Given the description of an element on the screen output the (x, y) to click on. 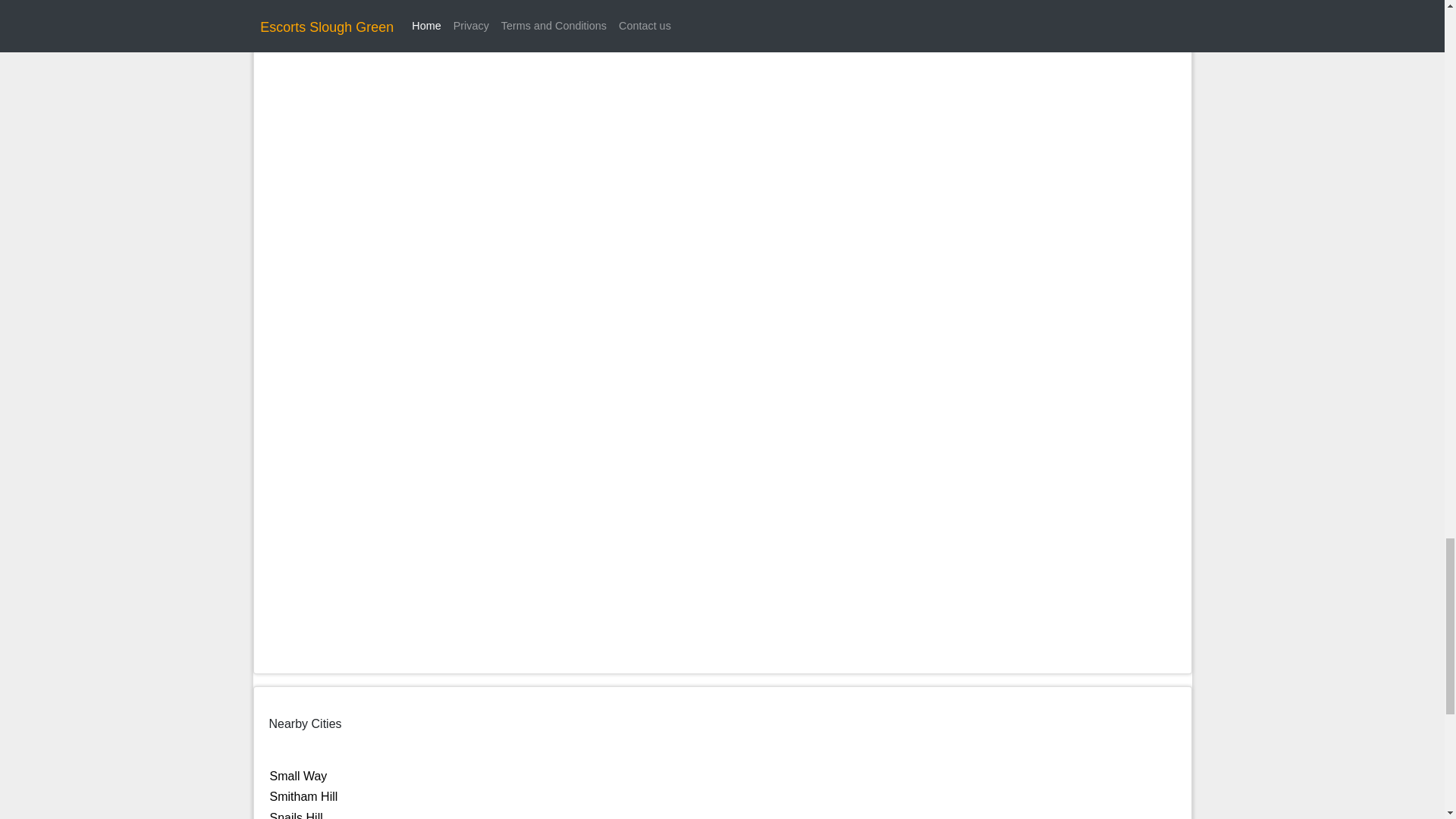
Smitham Hill (303, 796)
Snails Hill (296, 815)
Small Way (298, 775)
